Given the description of an element on the screen output the (x, y) to click on. 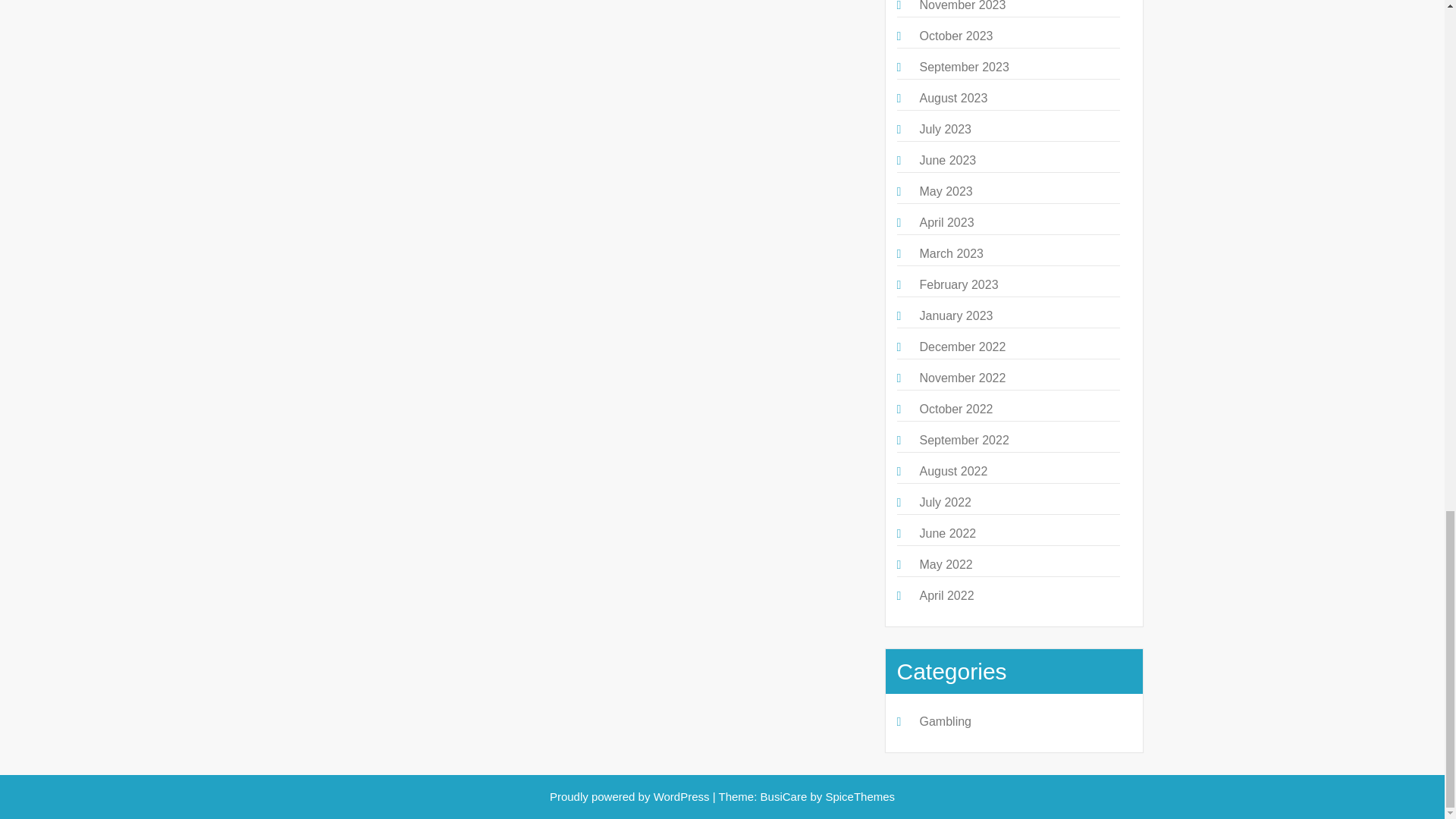
May 2023 (945, 191)
February 2023 (957, 284)
December 2022 (962, 346)
April 2023 (946, 222)
August 2023 (952, 97)
November 2023 (962, 5)
January 2023 (955, 315)
June 2023 (946, 160)
March 2023 (951, 253)
November 2022 (962, 377)
